Given the description of an element on the screen output the (x, y) to click on. 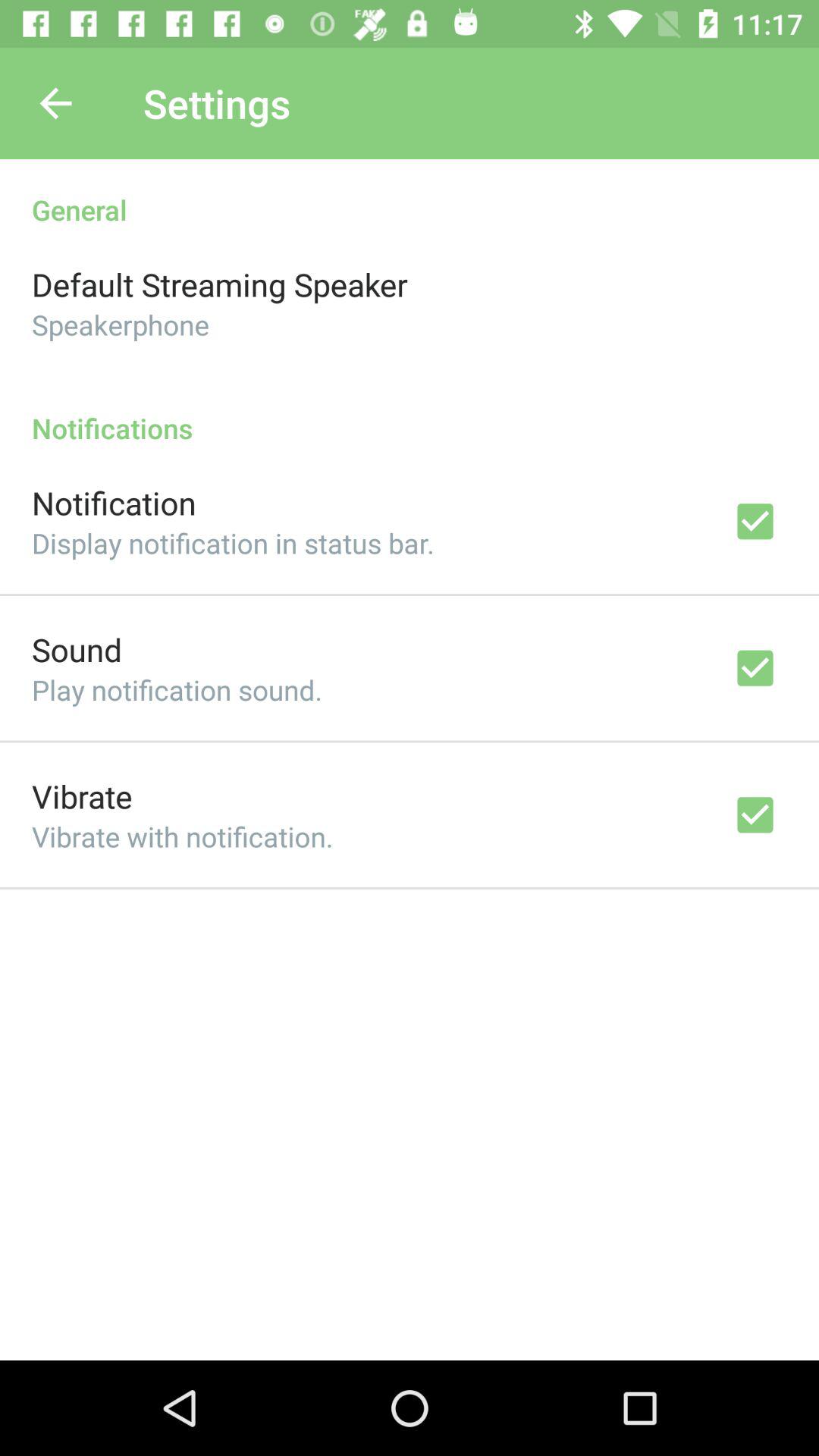
click the default streaming speaker item (219, 283)
